Given the description of an element on the screen output the (x, y) to click on. 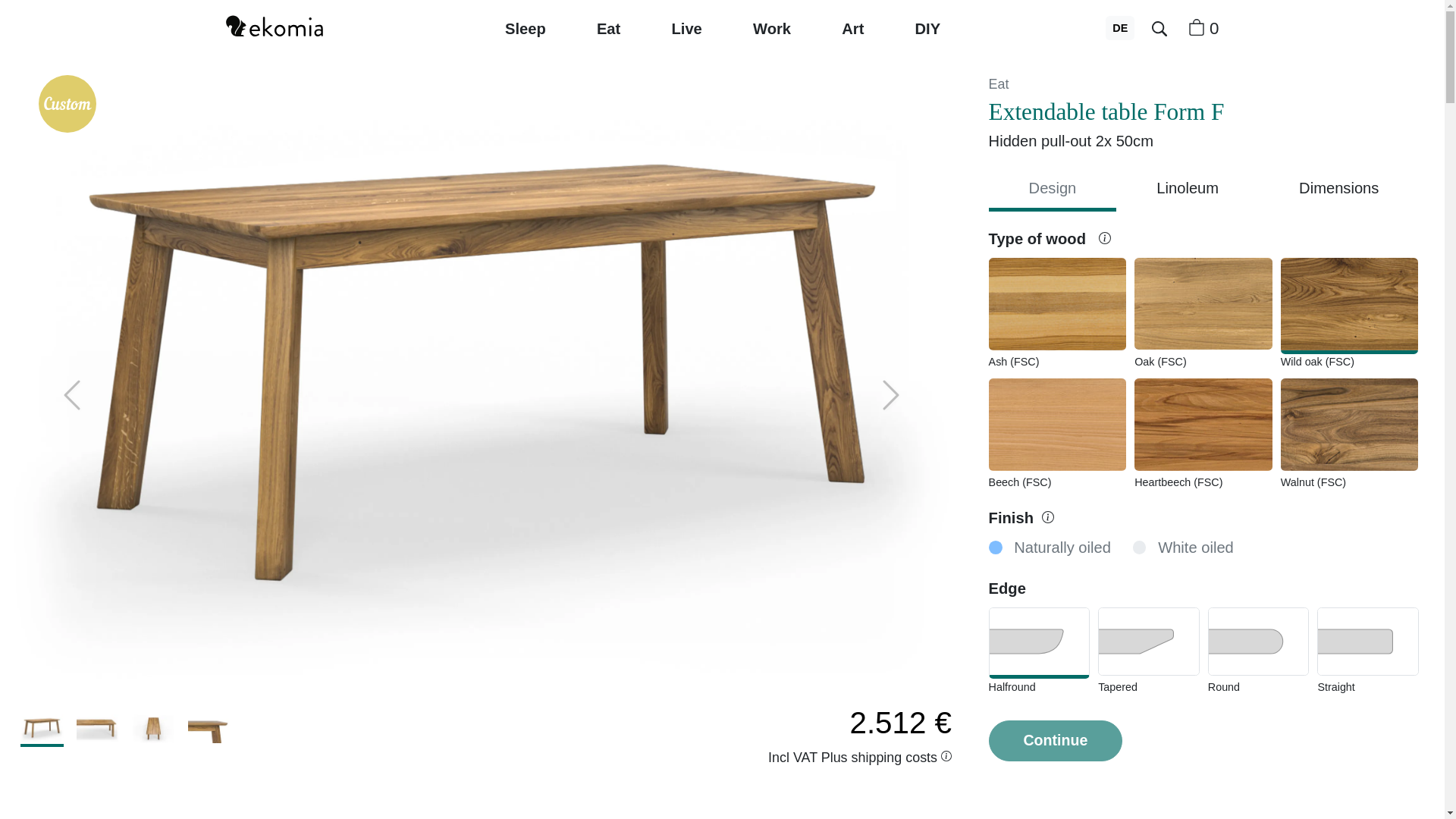
Incl VAT Plus shipping costs (860, 757)
Design (1052, 189)
Eat (608, 28)
Linoleum (1187, 189)
DIY (927, 28)
Eat (998, 83)
Sleep (524, 28)
Dimensions (1338, 189)
Live (687, 28)
Finish  (1021, 517)
DE (1119, 28)
Work (770, 28)
Art (852, 28)
Continue (1055, 740)
Type of wood   (1049, 238)
